Given the description of an element on the screen output the (x, y) to click on. 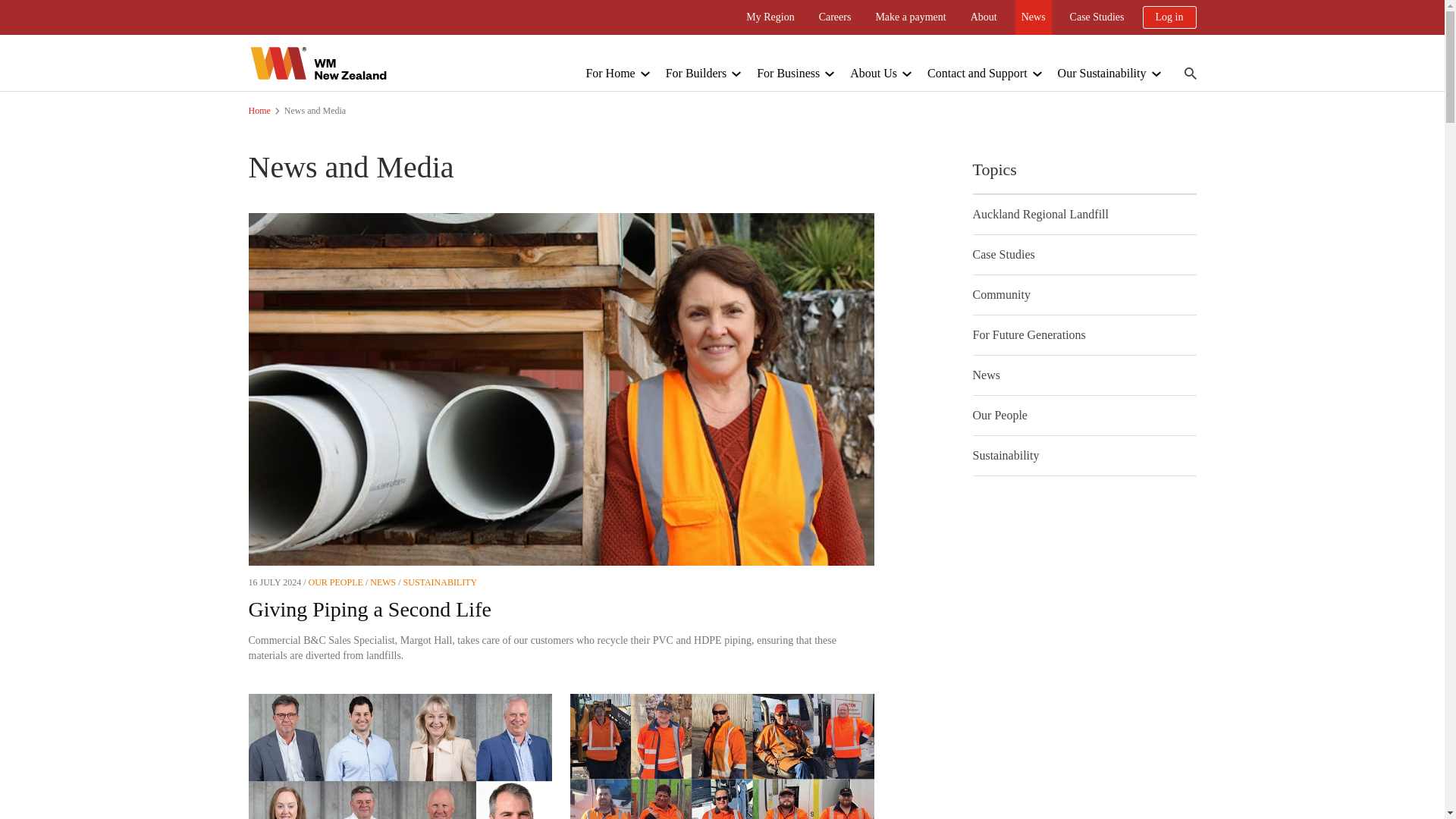
For Business (788, 73)
About Us (873, 73)
For Builders (695, 73)
For Home (609, 73)
For Business (788, 73)
Search (1190, 73)
WM New Zealand (318, 62)
For Builders (695, 73)
For Home (609, 73)
